Given the description of an element on the screen output the (x, y) to click on. 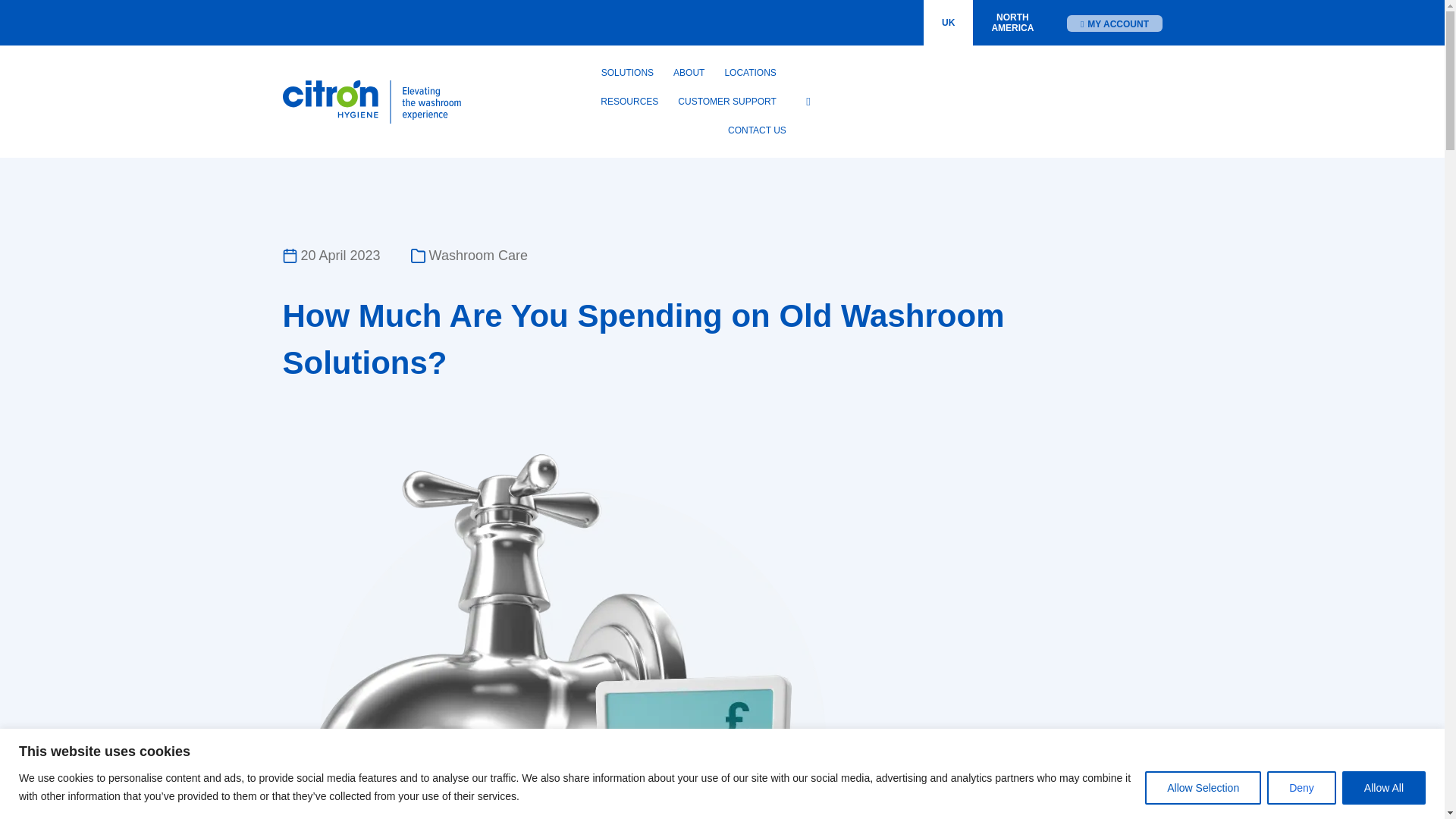
LOCATIONS (1011, 22)
UK (750, 72)
Allow All (947, 22)
Allow Selection (1383, 787)
MY ACCOUNT (1202, 787)
ABOUT (1114, 23)
SOLUTIONS (688, 72)
Deny (627, 72)
